Given the description of an element on the screen output the (x, y) to click on. 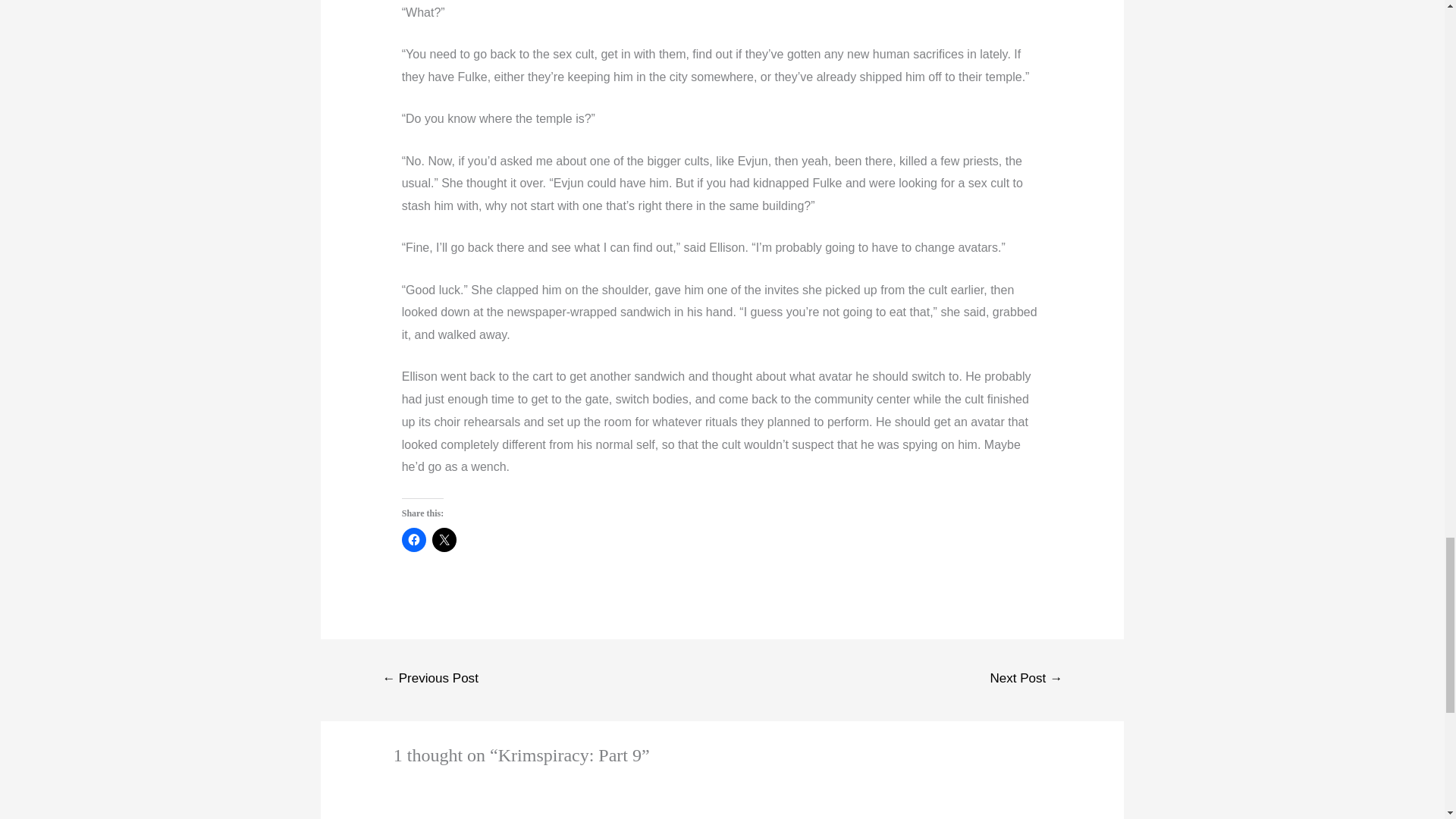
Click to share on X (444, 539)
Click to share on Facebook (413, 539)
